Given the description of an element on the screen output the (x, y) to click on. 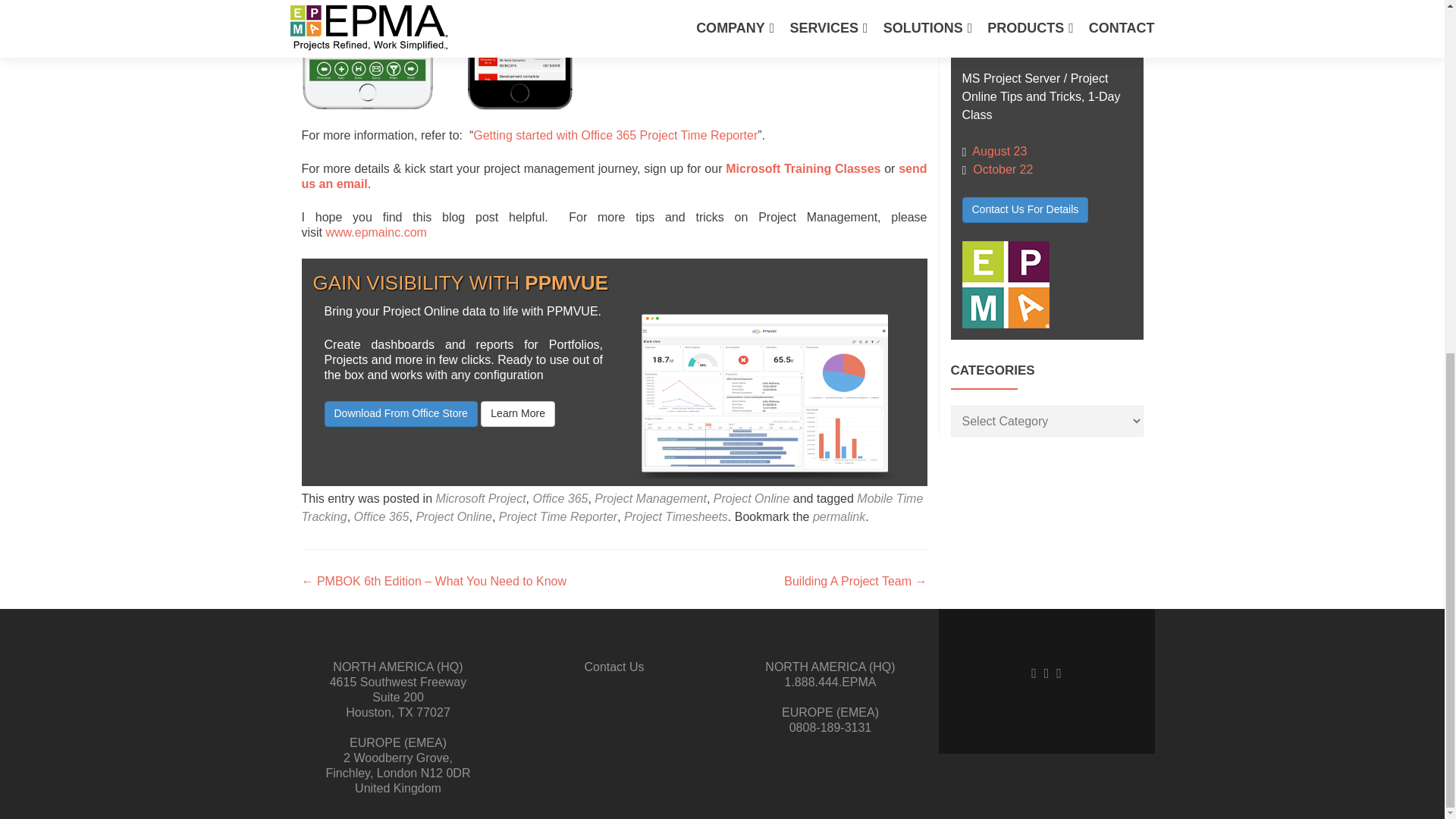
Office 365 (381, 516)
Mobile Time Tracking (612, 507)
Project Time Reporter (558, 516)
Microsoft Training Classes (802, 168)
send us an email (614, 176)
Office 365 (560, 498)
Microsoft Project (480, 498)
Project Online (453, 516)
Project Online (751, 498)
Learn More (517, 413)
Getting started with Office 365 Project Time Reporter (615, 134)
Download From Office Store (400, 413)
www.epmainc.com (376, 232)
Project Management (650, 498)
